Given the description of an element on the screen output the (x, y) to click on. 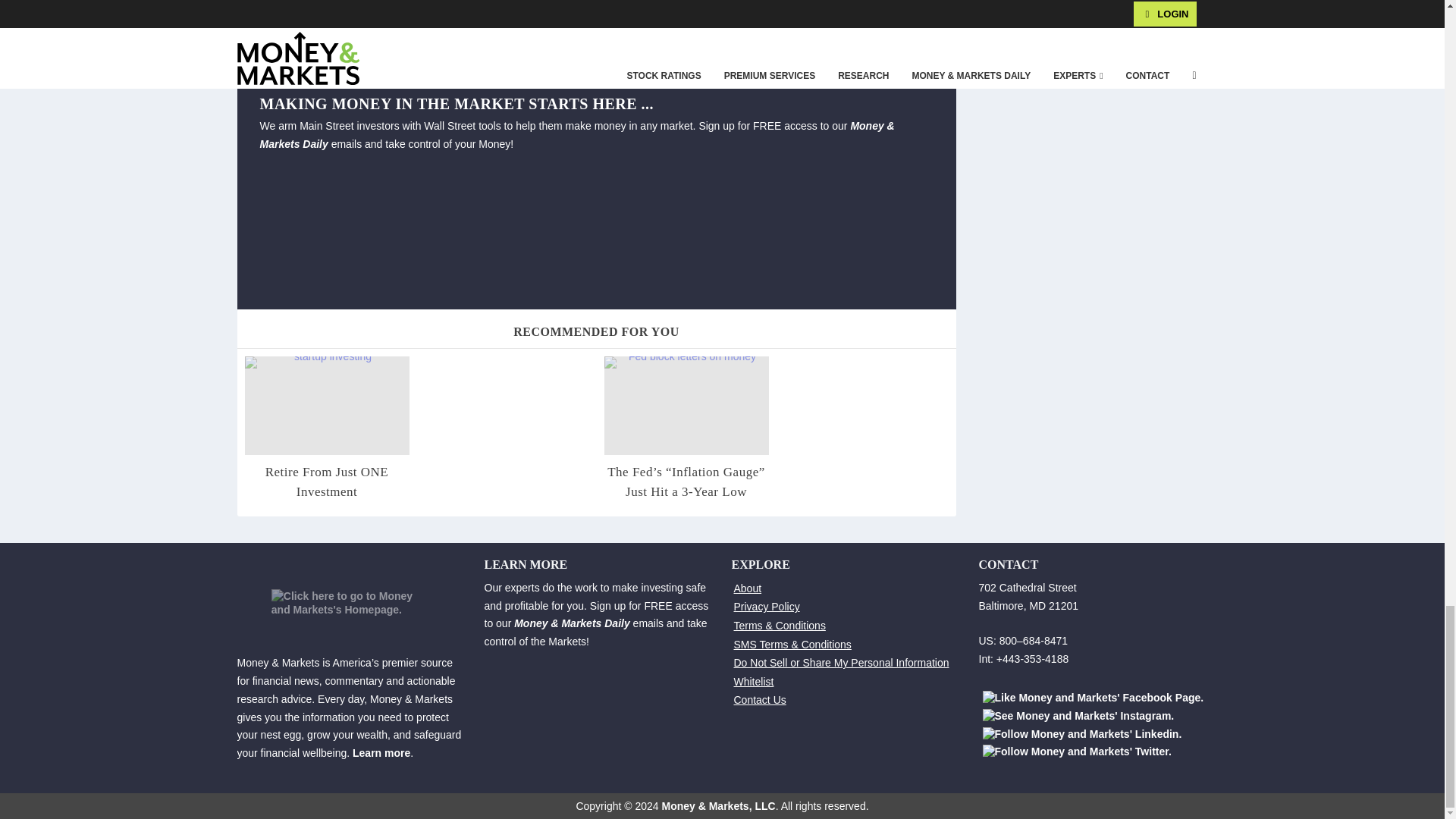
Learn more (381, 752)
Privacy Policy (766, 606)
Retire From Just ONE Investment (326, 481)
Retire From Just ONE Investment (326, 405)
Retire From Just ONE Investment (326, 481)
About (747, 588)
